Given the description of an element on the screen output the (x, y) to click on. 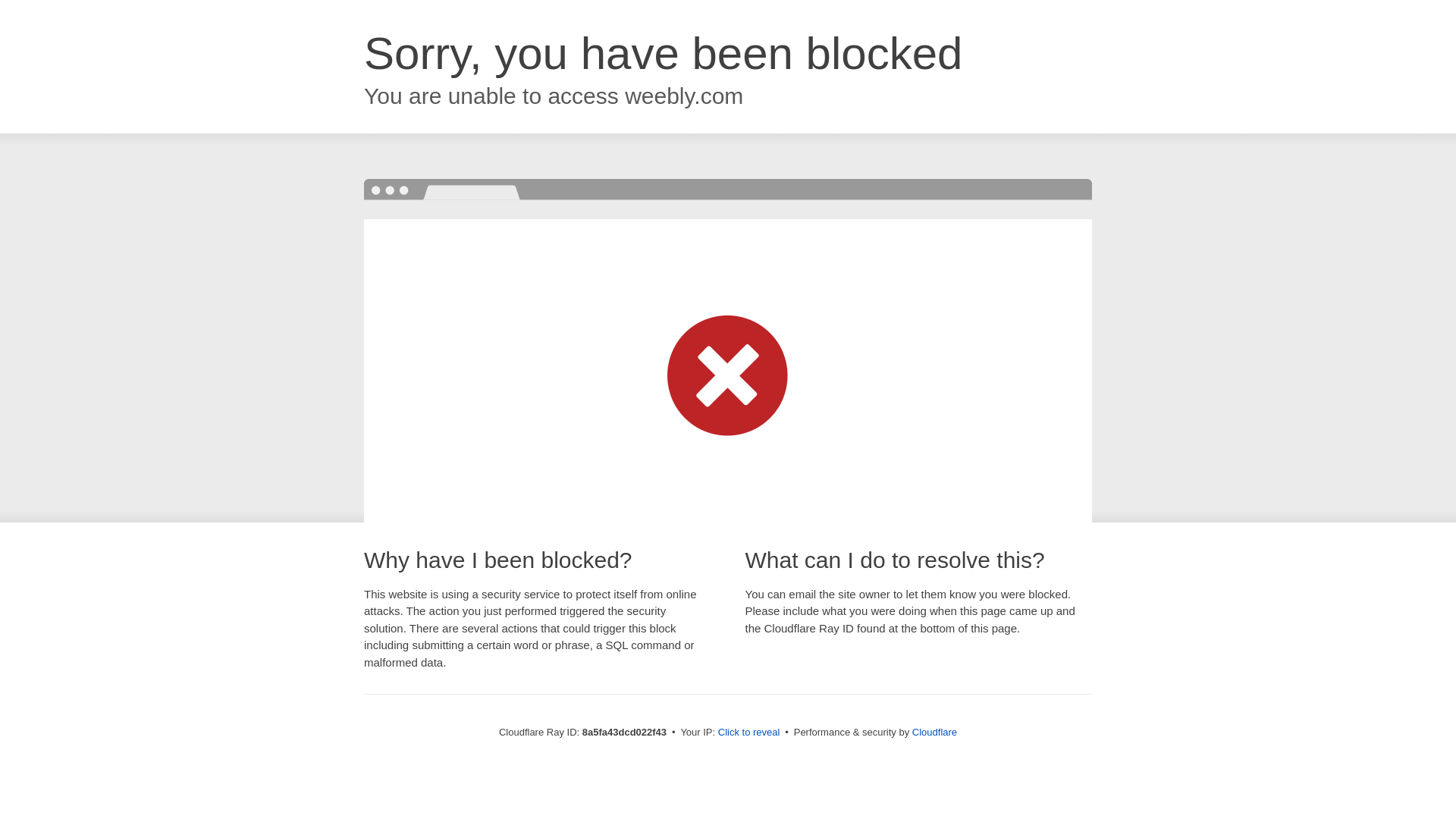
Cloudflare (934, 731)
Click to reveal (748, 732)
